Given the description of an element on the screen output the (x, y) to click on. 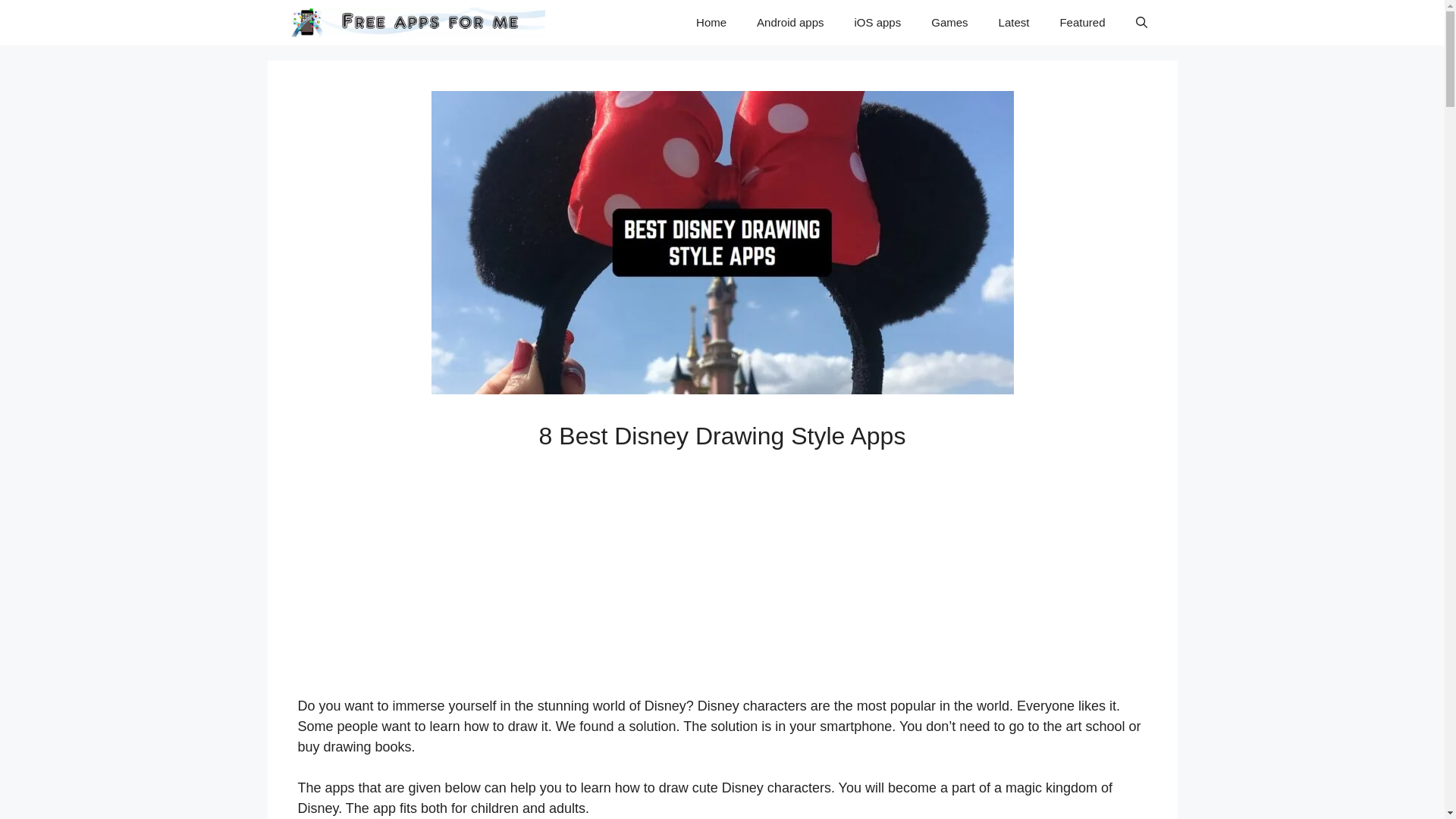
Android apps (789, 22)
Featured (1081, 22)
Latest (1014, 22)
iOS apps (878, 22)
Games (948, 22)
Home (711, 22)
